Given the description of an element on the screen output the (x, y) to click on. 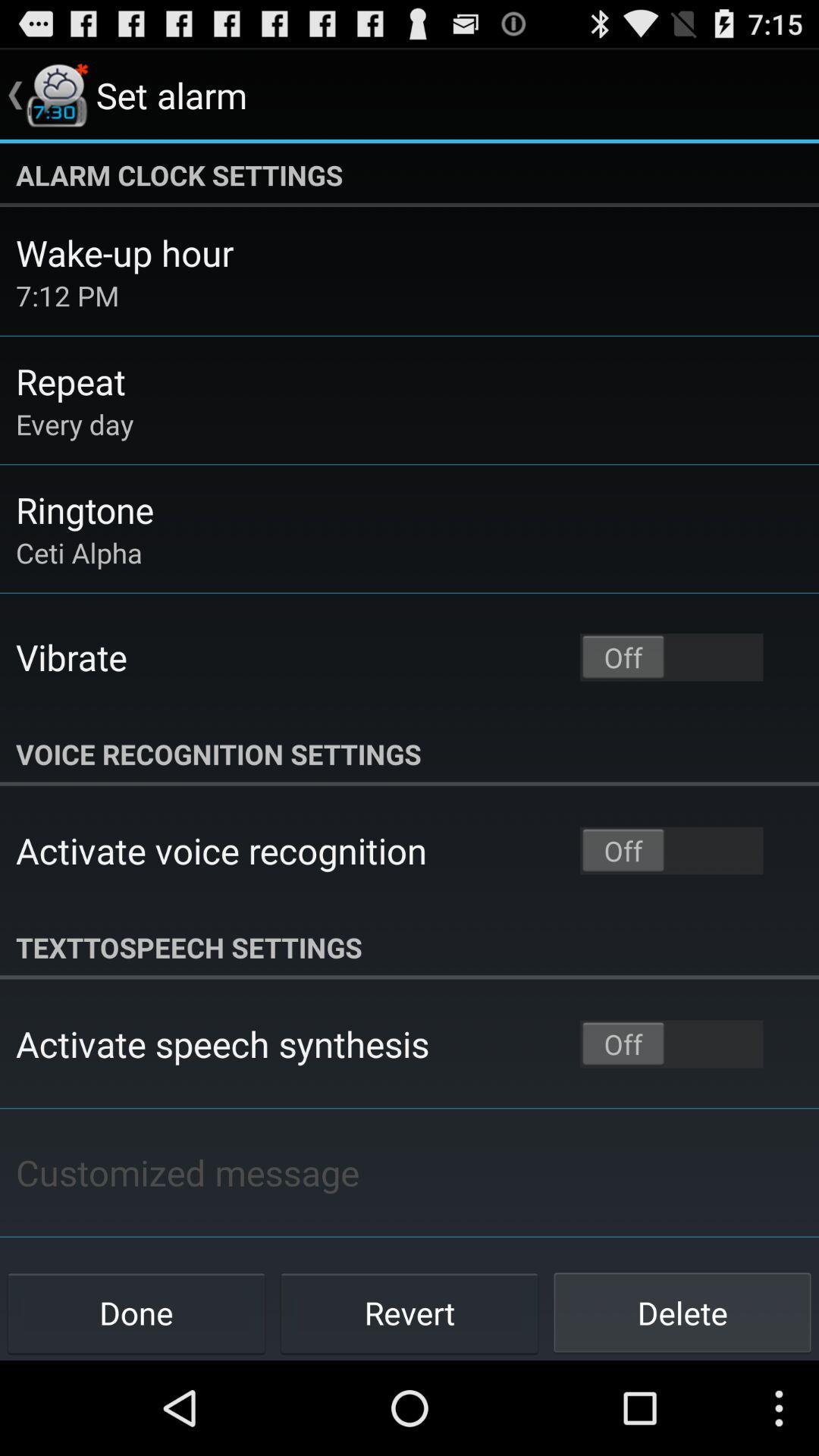
swipe to customized message (187, 1172)
